Given the description of an element on the screen output the (x, y) to click on. 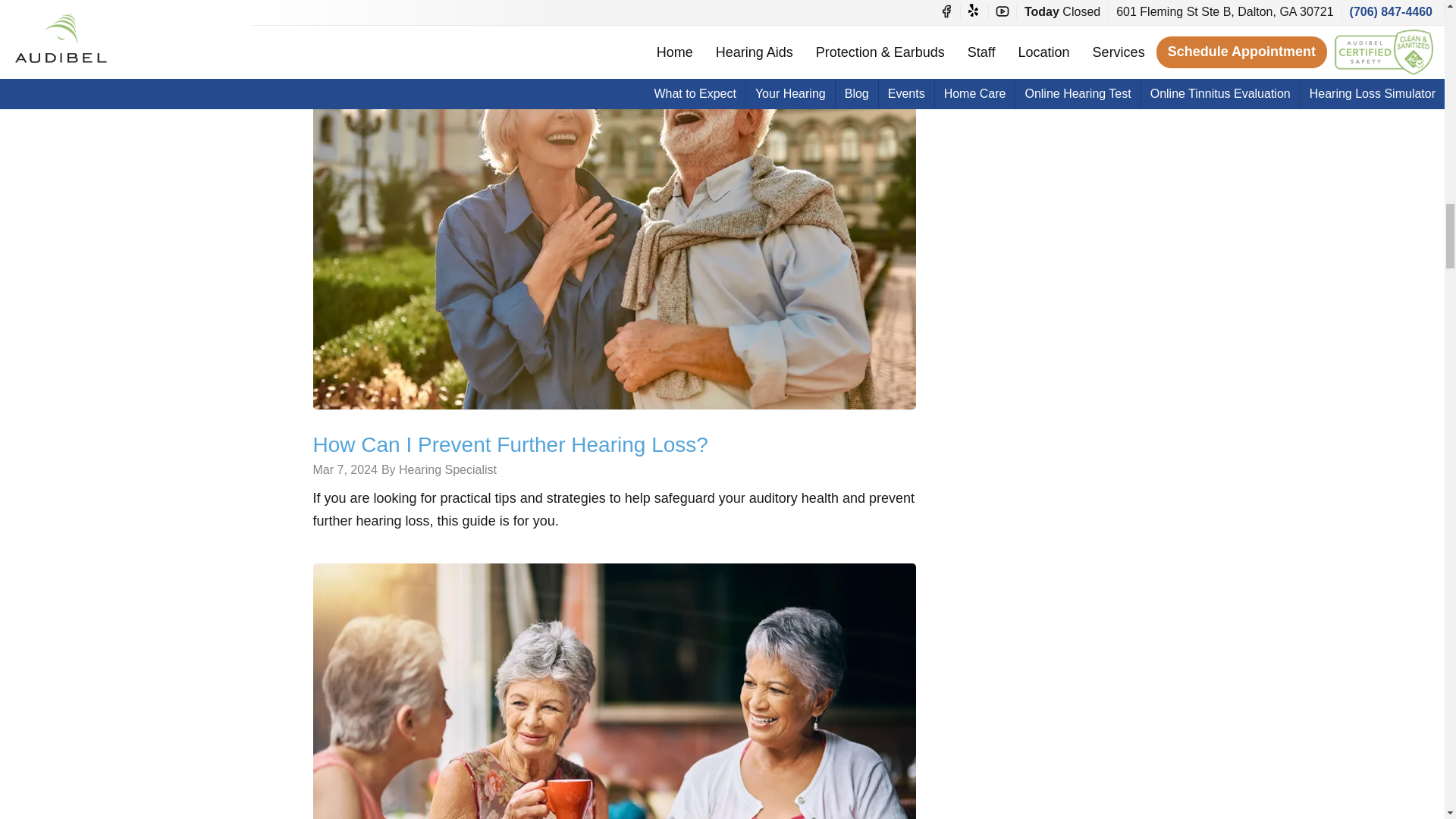
How Can I Prevent Further Hearing Loss? (614, 207)
How AI Hearing Aids Help with Speech Clarity (614, 763)
How Can I Prevent Further Hearing Loss? (510, 444)
